Given the description of an element on the screen output the (x, y) to click on. 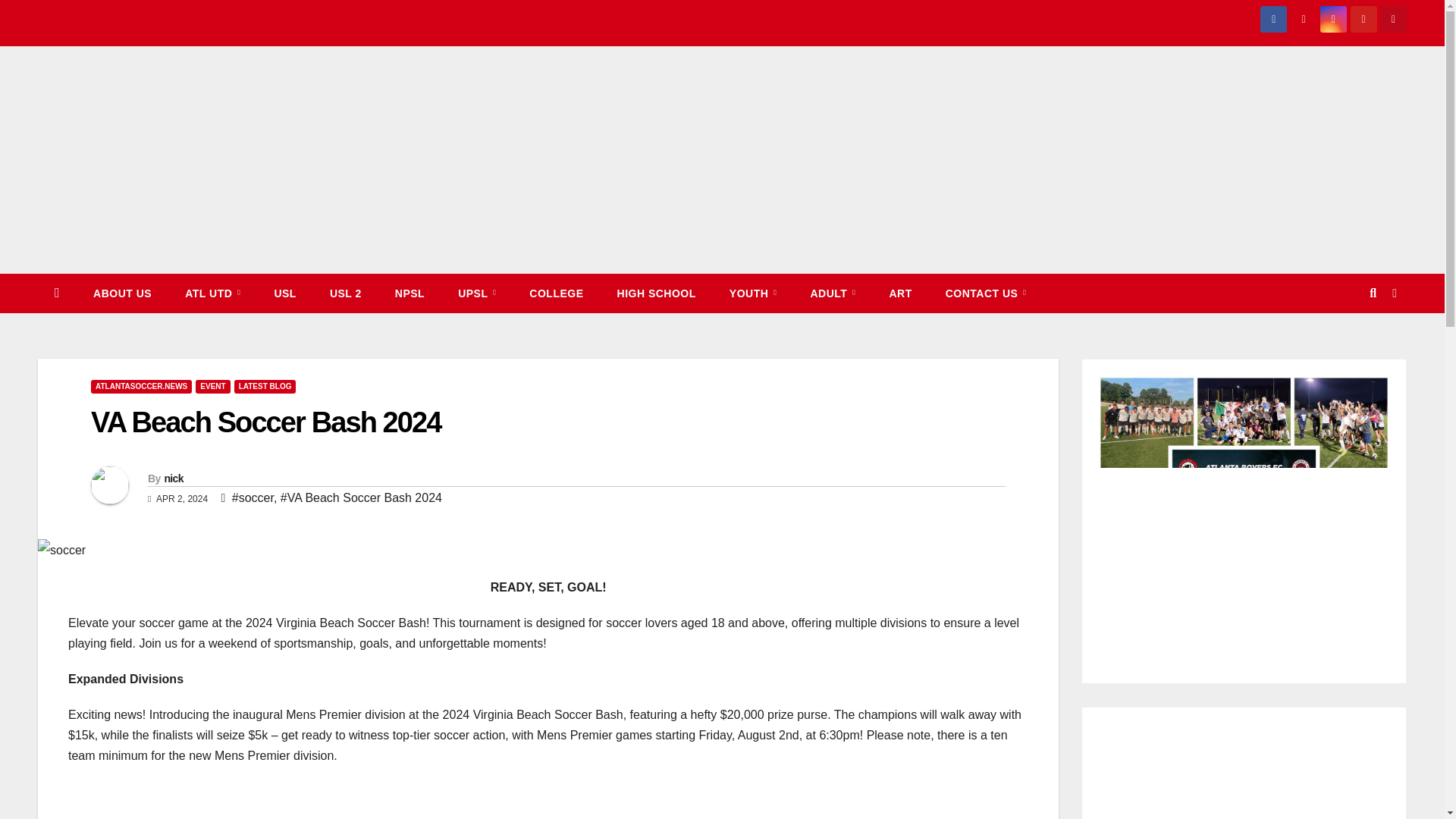
EVENT (212, 386)
ATL UTD (212, 292)
UPSL (476, 292)
LATEST BLOG (265, 386)
USL (285, 292)
YOUTH (753, 292)
High School (656, 292)
ABOUT US (122, 292)
ADULT (832, 292)
USL 2 (345, 292)
